Given the description of an element on the screen output the (x, y) to click on. 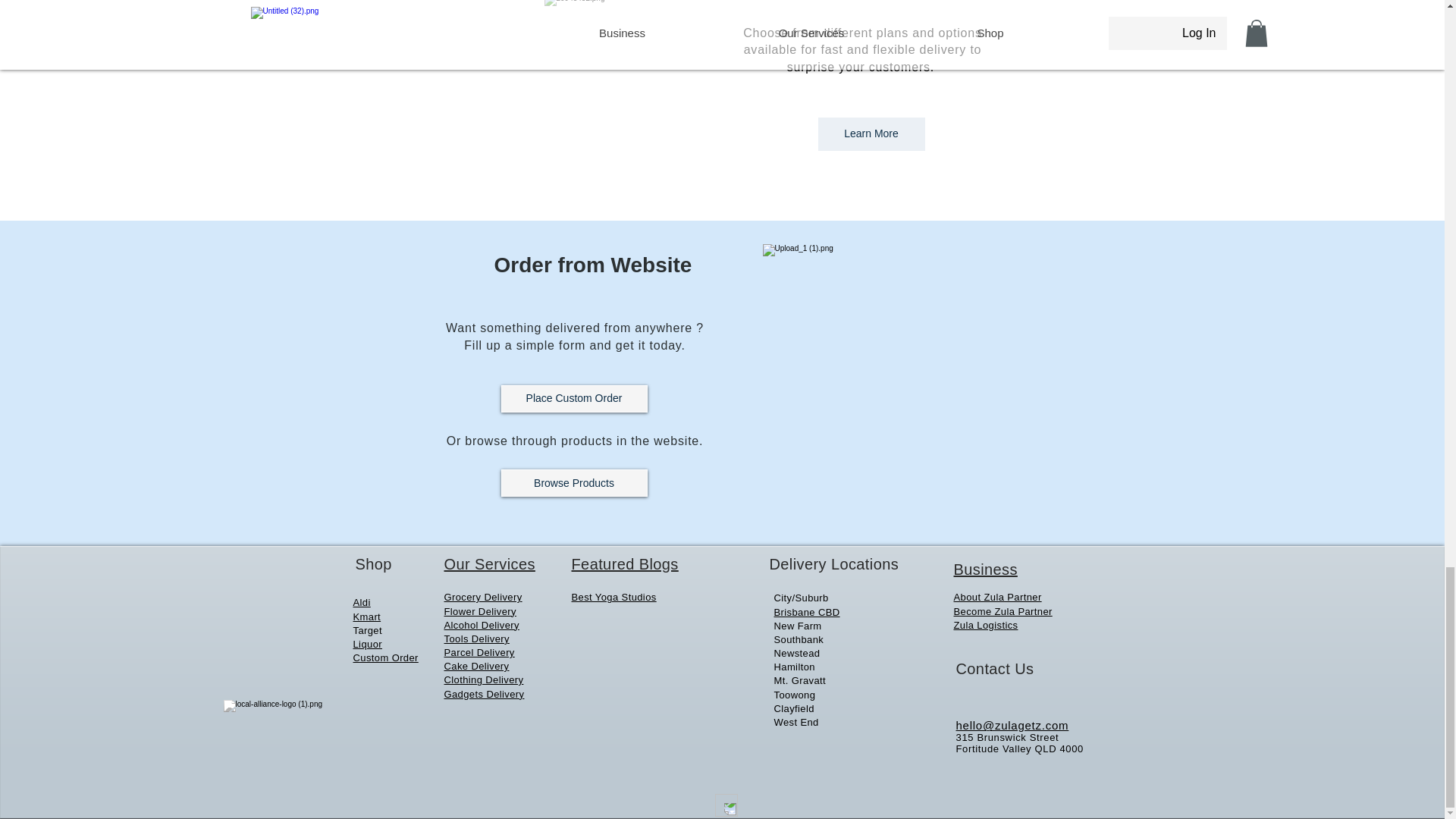
Our Services (489, 564)
Grocery Delivery (483, 596)
Best Yoga Studios (614, 596)
About Zula Partner (997, 596)
Business (985, 569)
Become Zula Partner (1002, 611)
Parcel Delivery (479, 652)
Tools Delivery (476, 638)
Flower Delivery (480, 611)
Liquor (367, 644)
Custom Order (386, 657)
Alcohol Delivery (481, 624)
Cake Delivery (476, 665)
Browse Products (573, 482)
Clothing Delivery (484, 679)
